Given the description of an element on the screen output the (x, y) to click on. 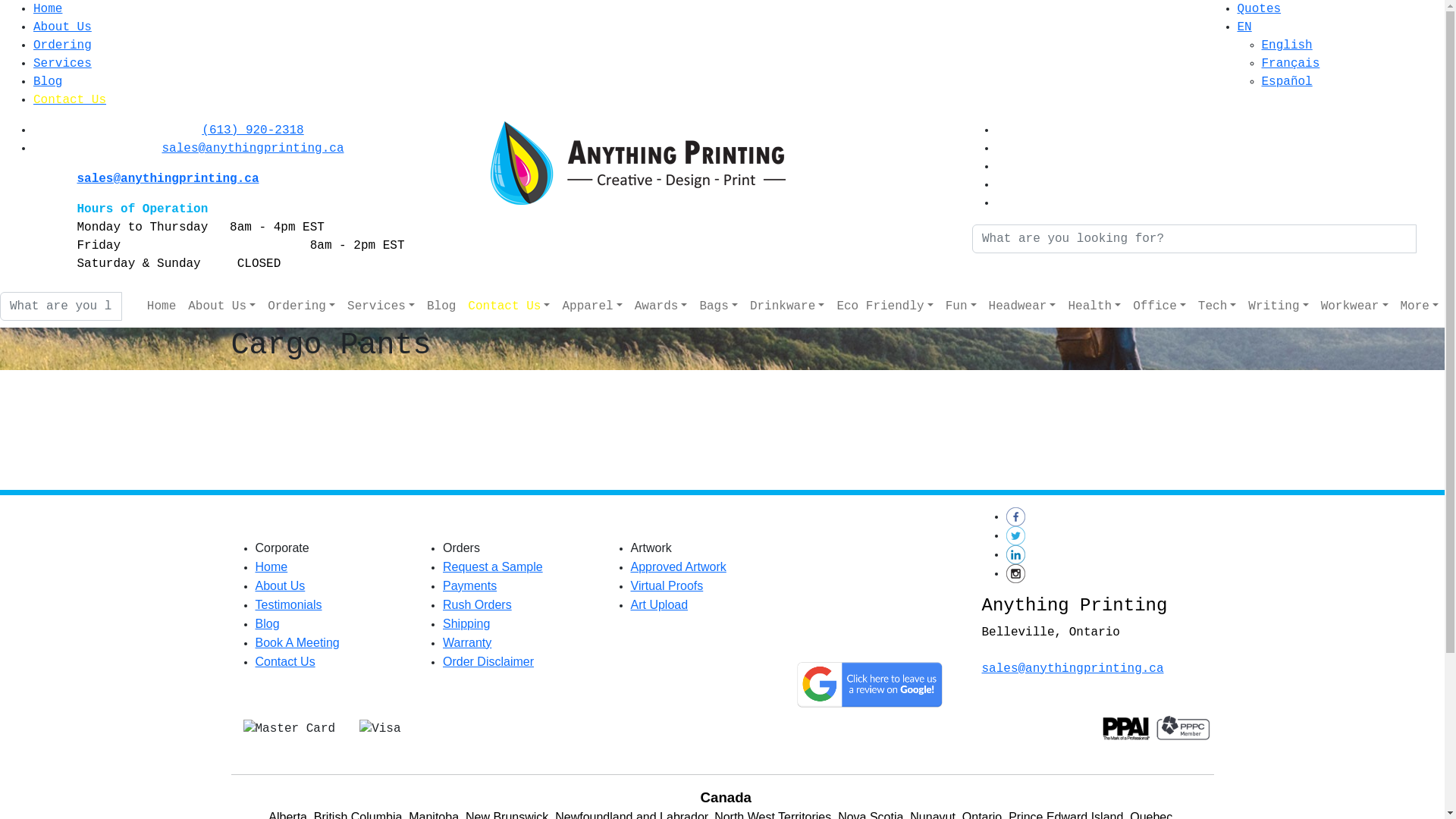
Health Element type: text (1093, 306)
Approved Artwork Element type: text (678, 566)
Awards Element type: text (660, 306)
Visit us on Linkedin Element type: hover (1014, 554)
Contact Us Element type: text (284, 661)
sales@anythingprinting.ca Element type: text (1072, 668)
Blog Element type: text (266, 623)
Tech Element type: text (1217, 306)
Ordering Element type: text (62, 45)
Blog Element type: text (440, 306)
Workwear Element type: text (1354, 306)
Visit us on Twitter Element type: hover (1014, 535)
Book A Meeting Element type: text (296, 642)
Shipping Element type: text (465, 623)
About Us Element type: text (221, 306)
Drinkware Element type: text (787, 306)
Writing Element type: text (1278, 306)
Office Element type: text (1159, 306)
Headwear Element type: text (1022, 306)
About Us Element type: text (279, 585)
Testimonials Element type: text (287, 604)
Home Element type: text (47, 8)
Visit us on Facebook Element type: hover (1014, 517)
Warranty Element type: text (466, 642)
Payments Element type: text (469, 585)
sales@anythingprinting.ca Element type: text (252, 148)
Apparel Element type: text (591, 306)
Rush Orders Element type: text (476, 604)
Fun Element type: text (960, 306)
Ordering Element type: text (301, 306)
Art Upload Element type: text (659, 604)
Contact Us Element type: text (508, 306)
About Us Element type: text (62, 27)
Home Element type: text (270, 566)
Services Element type: text (62, 63)
sales@anythingprinting.ca Element type: text (167, 178)
Home Element type: text (161, 306)
Order Disclaimer Element type: text (487, 661)
(613) 920-2318 Element type: text (252, 130)
EN Element type: text (1244, 27)
Request a Sample Element type: text (492, 566)
Contact Us Element type: text (69, 99)
English Element type: text (1286, 45)
Bags Element type: text (718, 306)
subpage Element type: hover (722, 426)
Blog Element type: text (47, 81)
Services Element type: text (380, 306)
More Element type: text (1419, 306)
Visit us on Instagram Element type: hover (1014, 573)
Quotes Element type: text (1259, 8)
Eco Friendly Element type: text (884, 306)
Virtual Proofs Element type: text (666, 585)
